Given the description of an element on the screen output the (x, y) to click on. 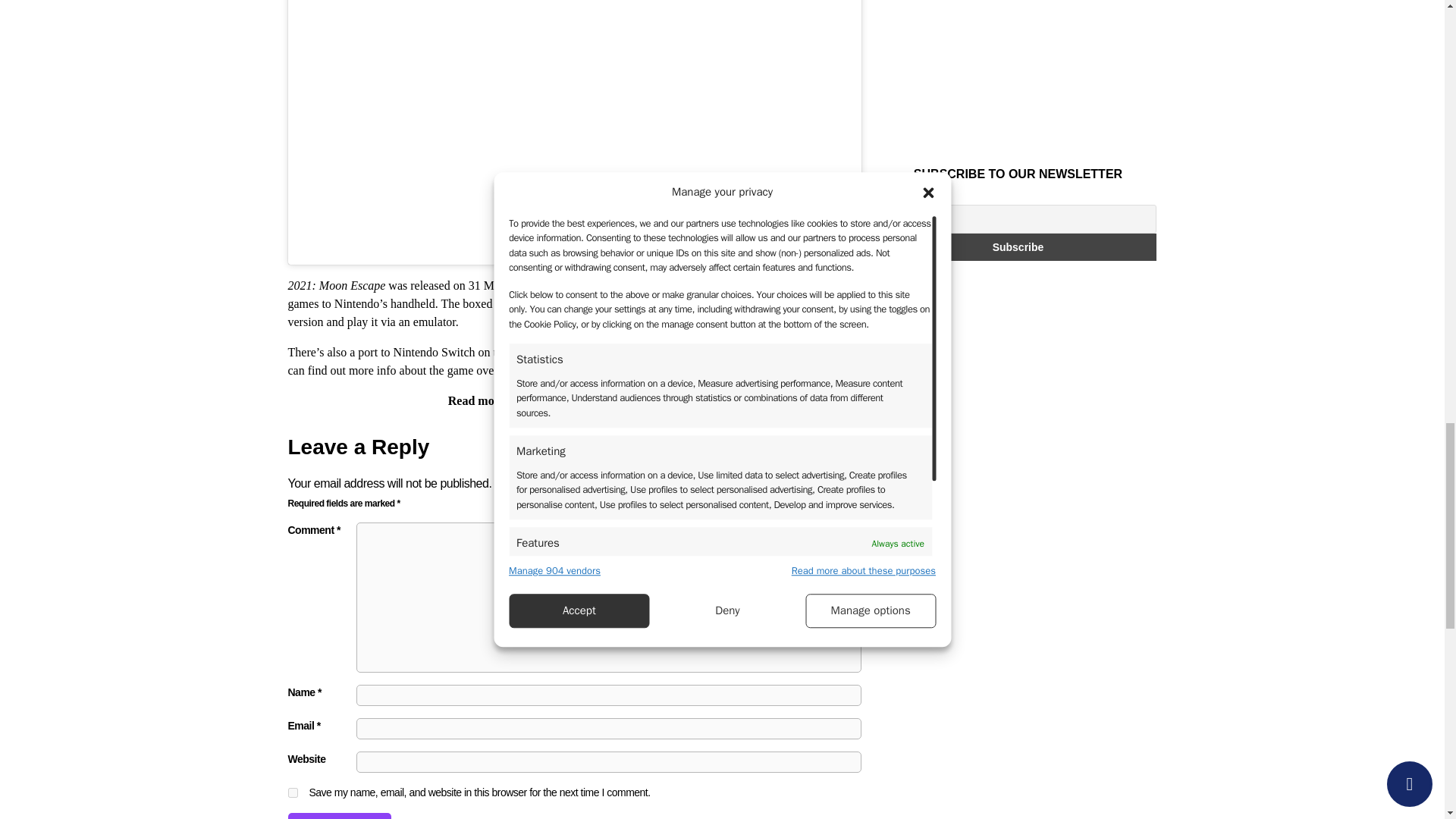
The joy of modding handheld consoles (606, 400)
Post Comment (339, 816)
Post Comment (339, 816)
